Given the description of an element on the screen output the (x, y) to click on. 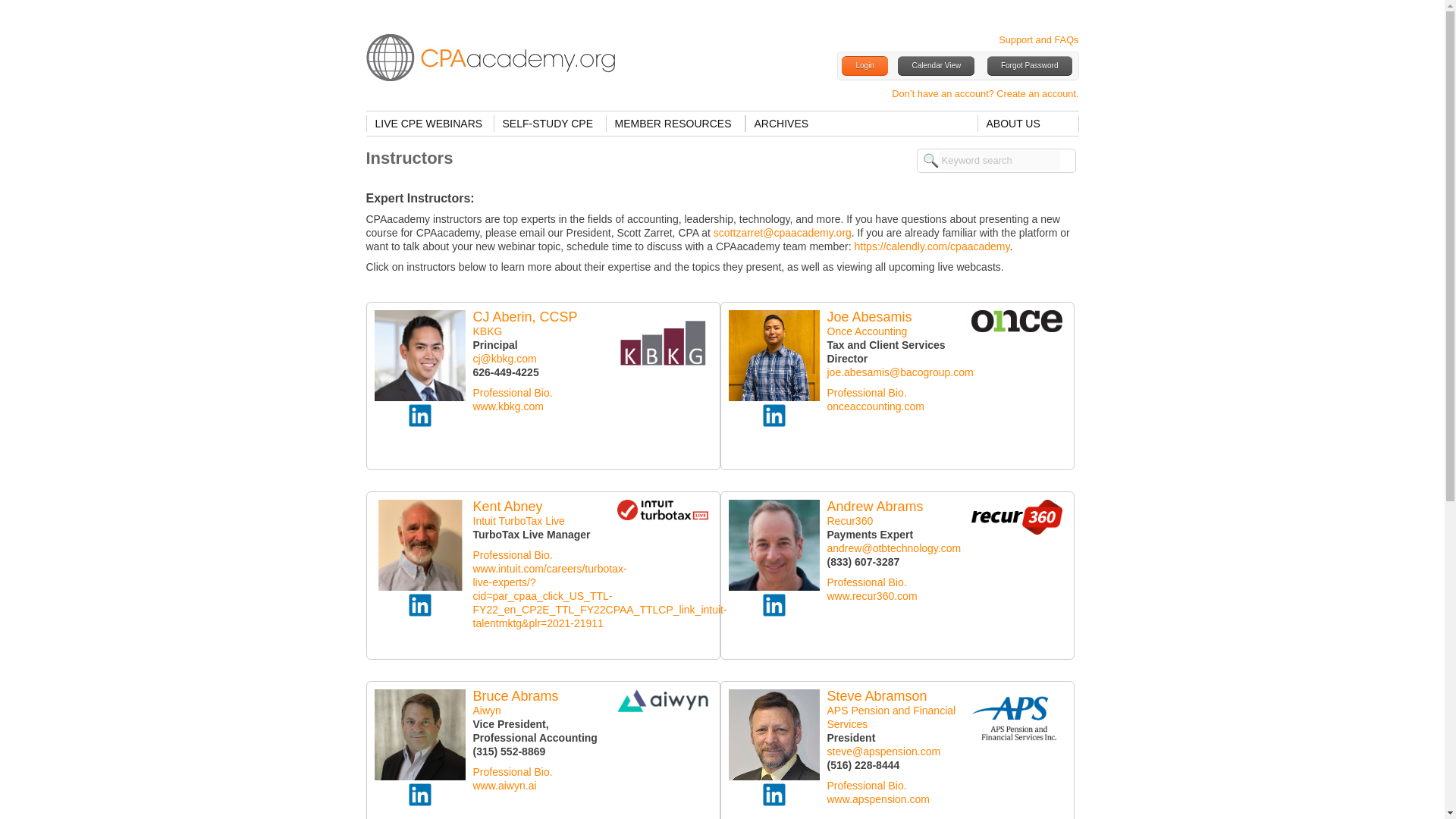
Support and FAQs (1038, 39)
Once Accounting (867, 331)
ARCHIVES (781, 123)
www.kbkg.com (508, 406)
ABOUT US (1027, 123)
Calendar View (936, 66)
Login (863, 66)
MEMBER RESOURCES (674, 123)
Professional Bio. (513, 392)
Forgot Password (1029, 66)
KBKG (487, 331)
LIVE CPE WEBINARS (429, 123)
Joe Abesamis (869, 316)
SELF-STUDY CPE (549, 123)
CJ Aberin, CCSP (525, 316)
